Given the description of an element on the screen output the (x, y) to click on. 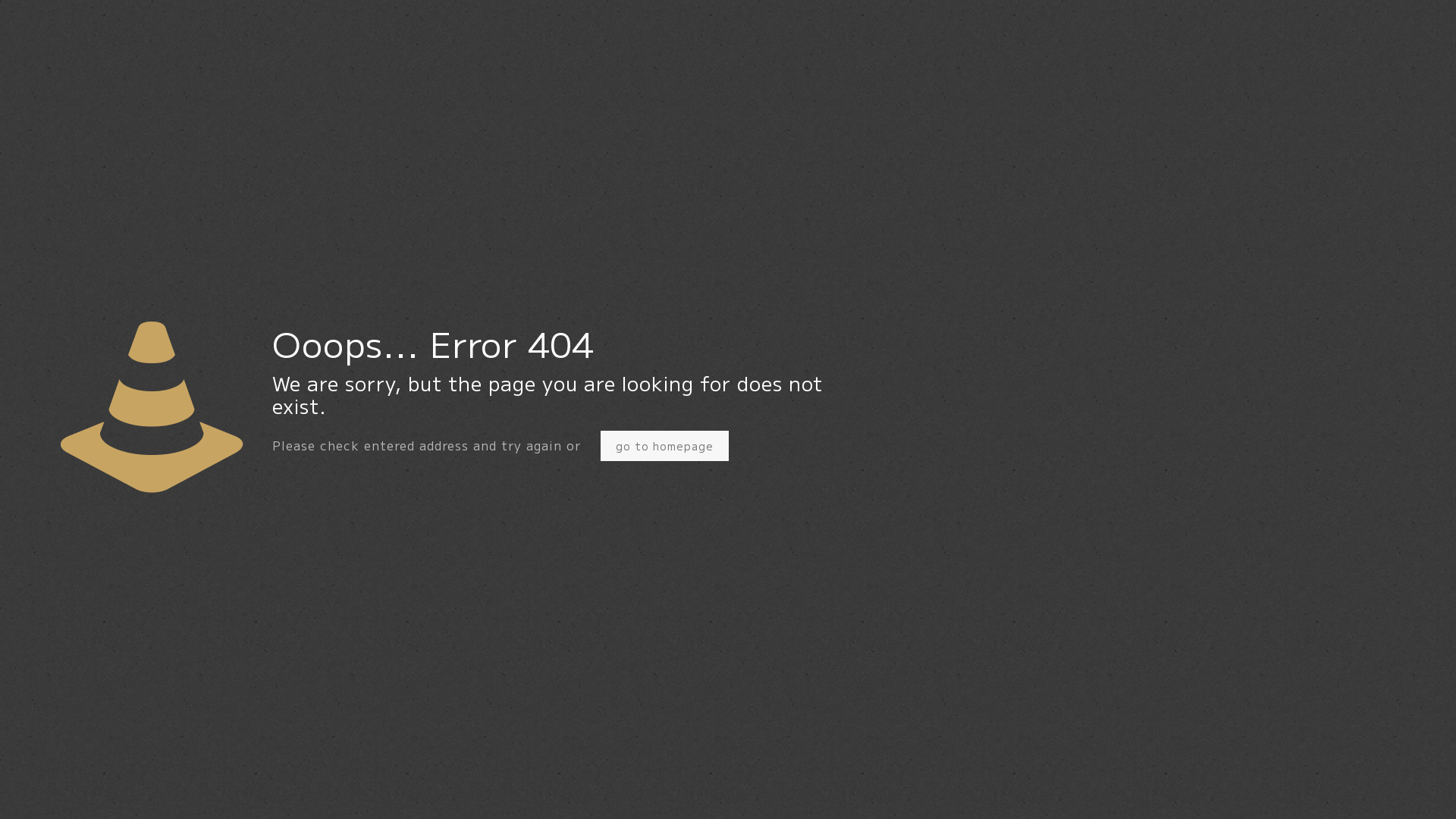
go to homepage Element type: text (664, 445)
